Given the description of an element on the screen output the (x, y) to click on. 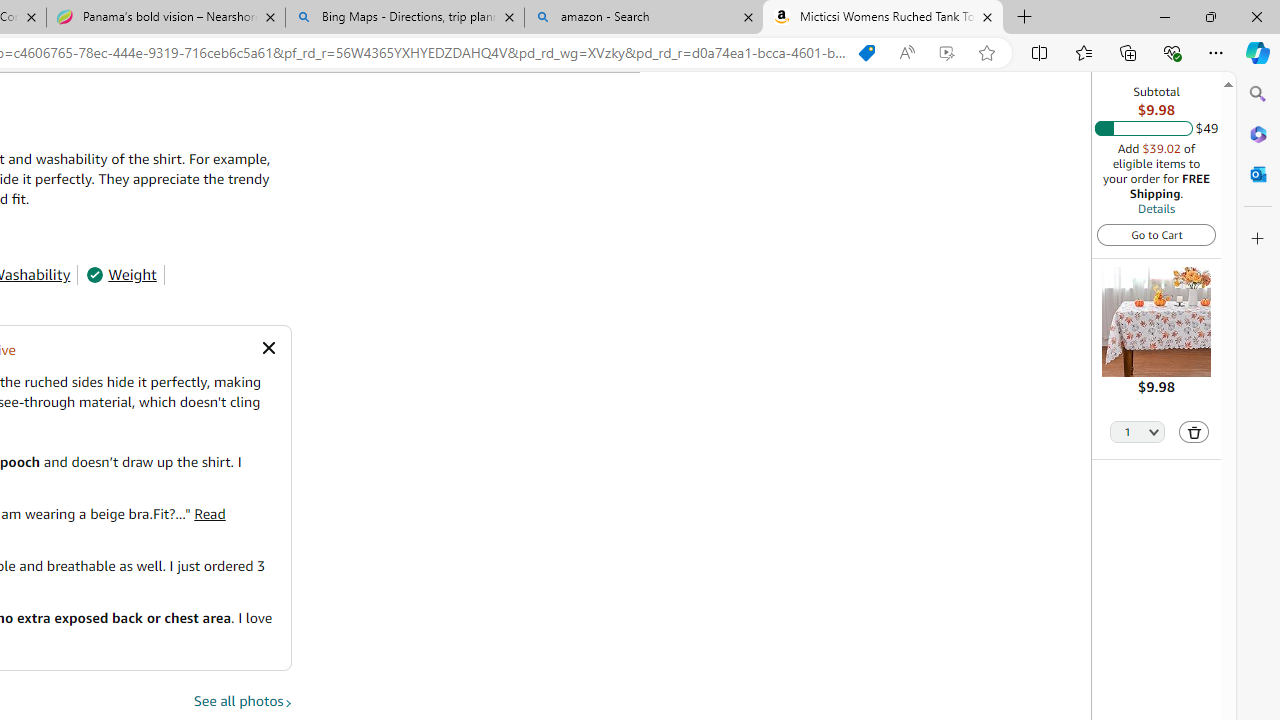
Shopping in Microsoft Edge (867, 53)
See all photos (243, 701)
